Given the description of an element on the screen output the (x, y) to click on. 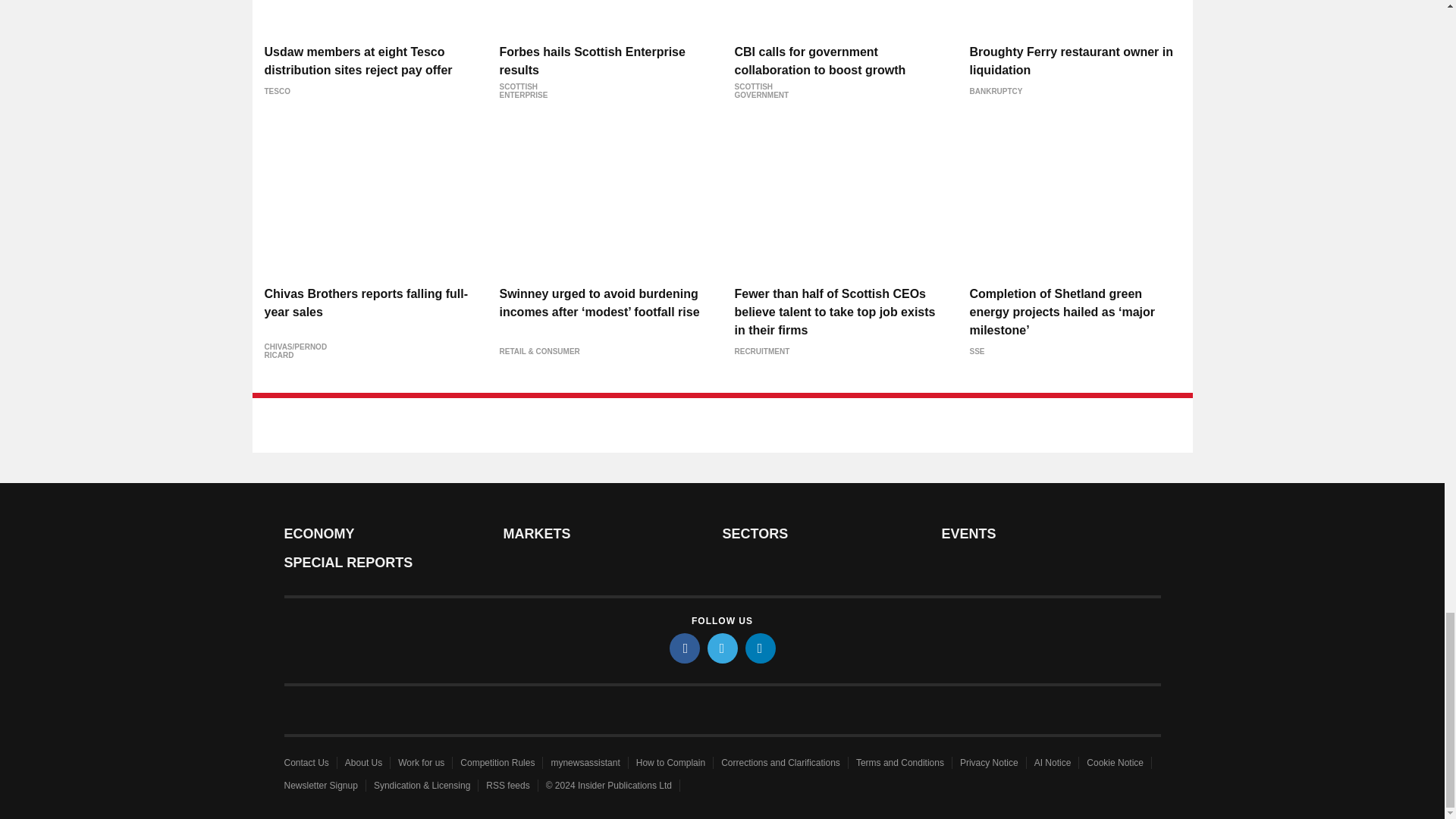
linkedin (759, 648)
facebook (683, 648)
twitter (721, 648)
